Given the description of an element on the screen output the (x, y) to click on. 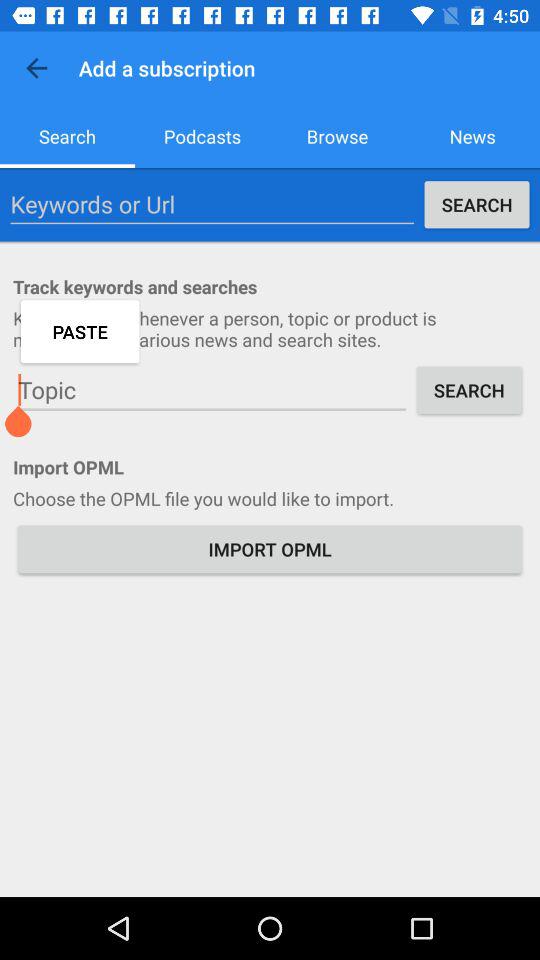
launch app to the left of add a subscription app (36, 68)
